Given the description of an element on the screen output the (x, y) to click on. 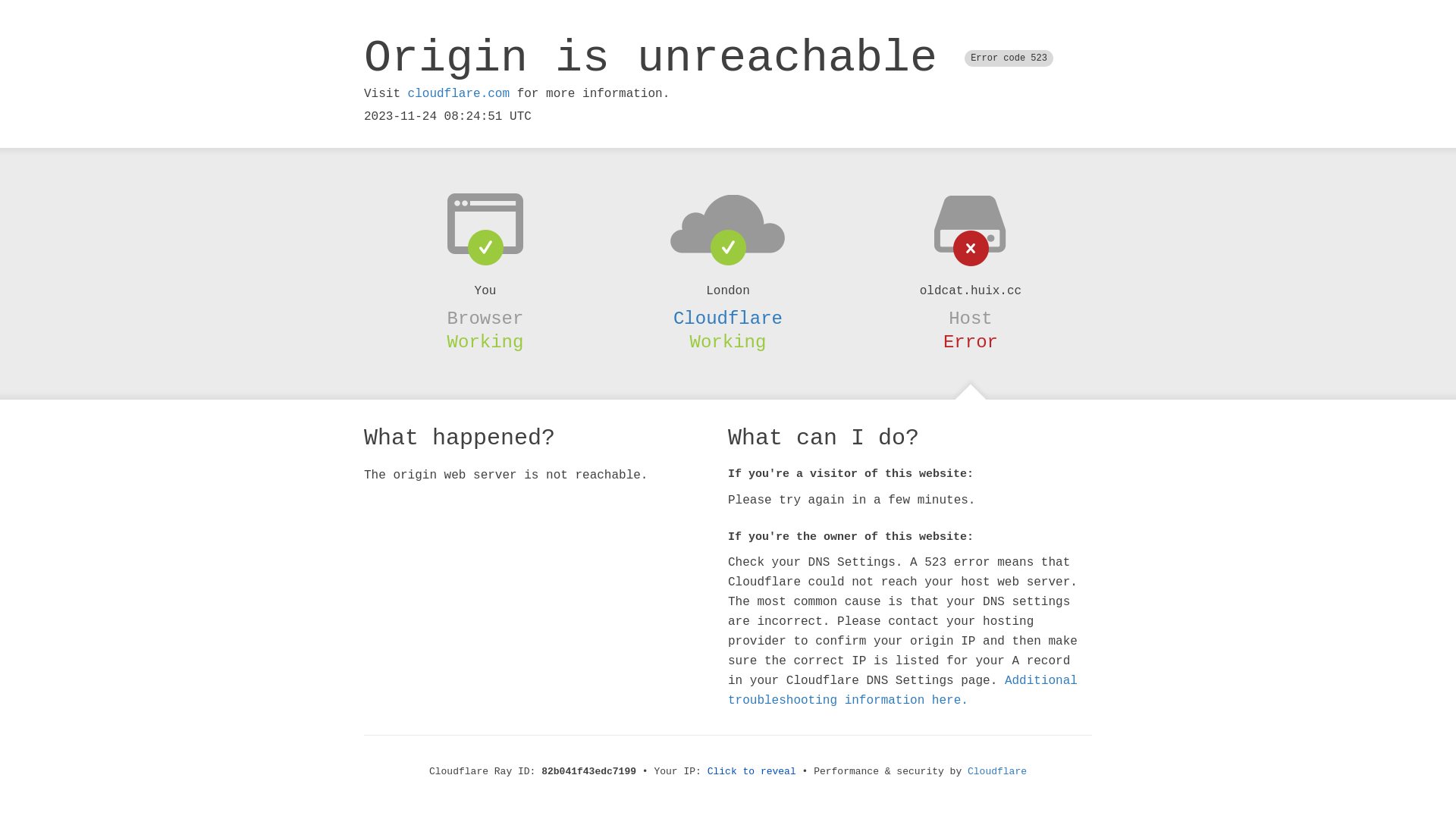
cloudflare.com Element type: text (458, 93)
Cloudflare Element type: text (996, 771)
Additional troubleshooting information here. Element type: text (902, 690)
Click to reveal Element type: text (751, 771)
Cloudflare Element type: text (727, 318)
